Given the description of an element on the screen output the (x, y) to click on. 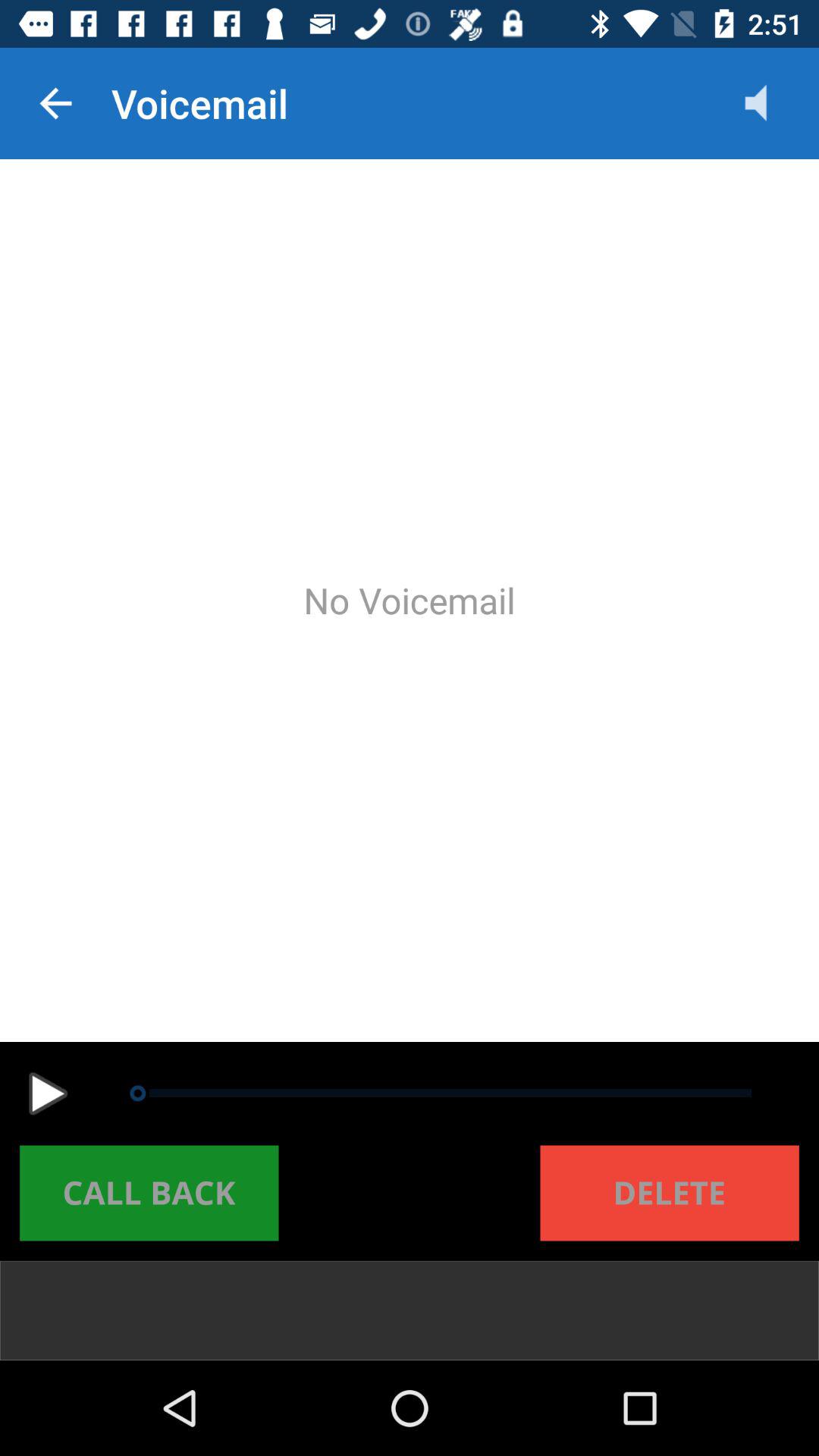
turn off item to the right of the voicemail (771, 103)
